Given the description of an element on the screen output the (x, y) to click on. 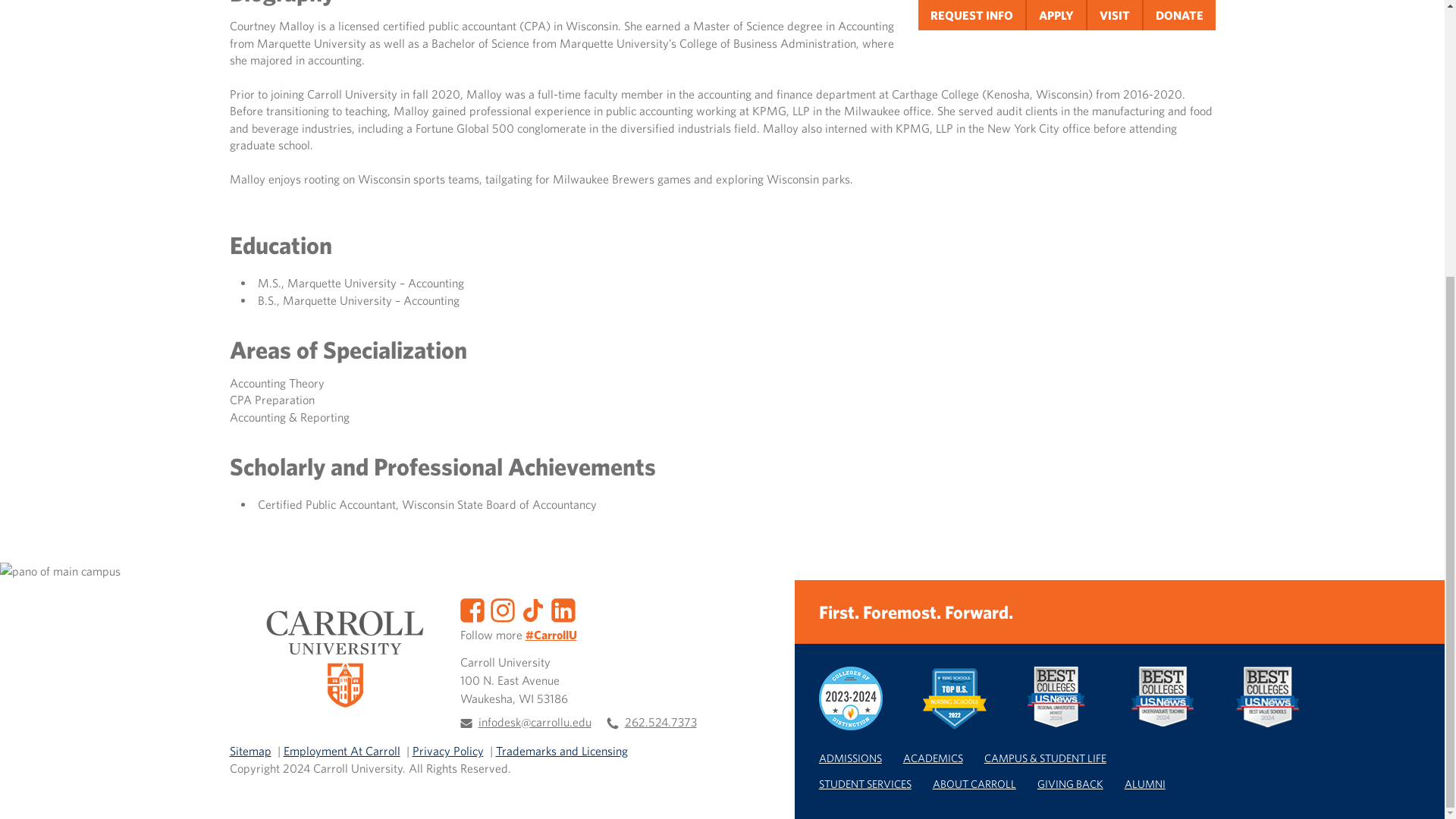
TikTok (531, 608)
Facebook (471, 608)
Instagram (501, 608)
LinkedIn (562, 608)
